Given the description of an element on the screen output the (x, y) to click on. 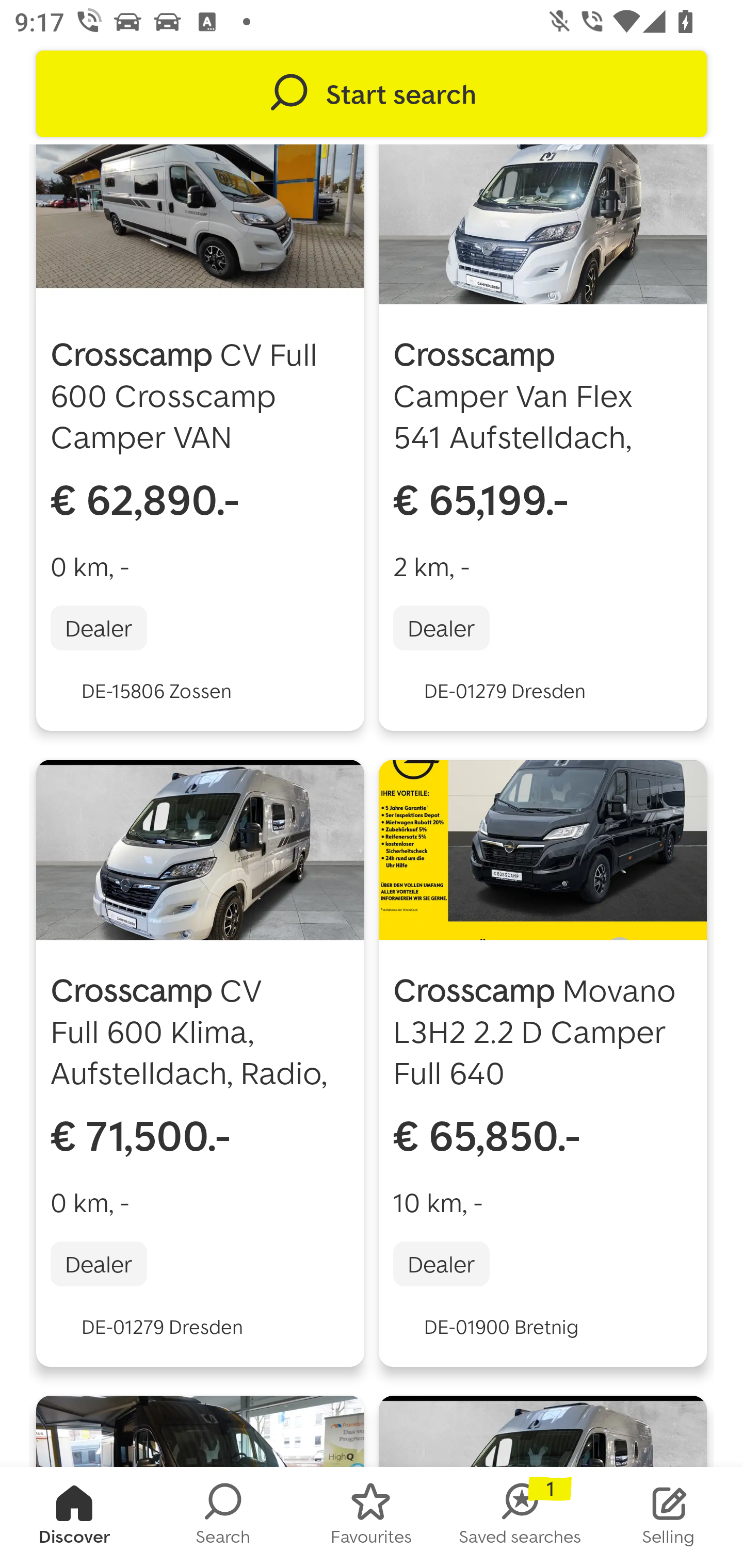
Start search (371, 93)
HOMESCREEN Discover (74, 1517)
SEARCH Search (222, 1517)
FAVORITES Favourites (371, 1517)
SAVED_SEARCHES Saved searches 1 (519, 1517)
STOCK_LIST Selling (668, 1517)
